Given the description of an element on the screen output the (x, y) to click on. 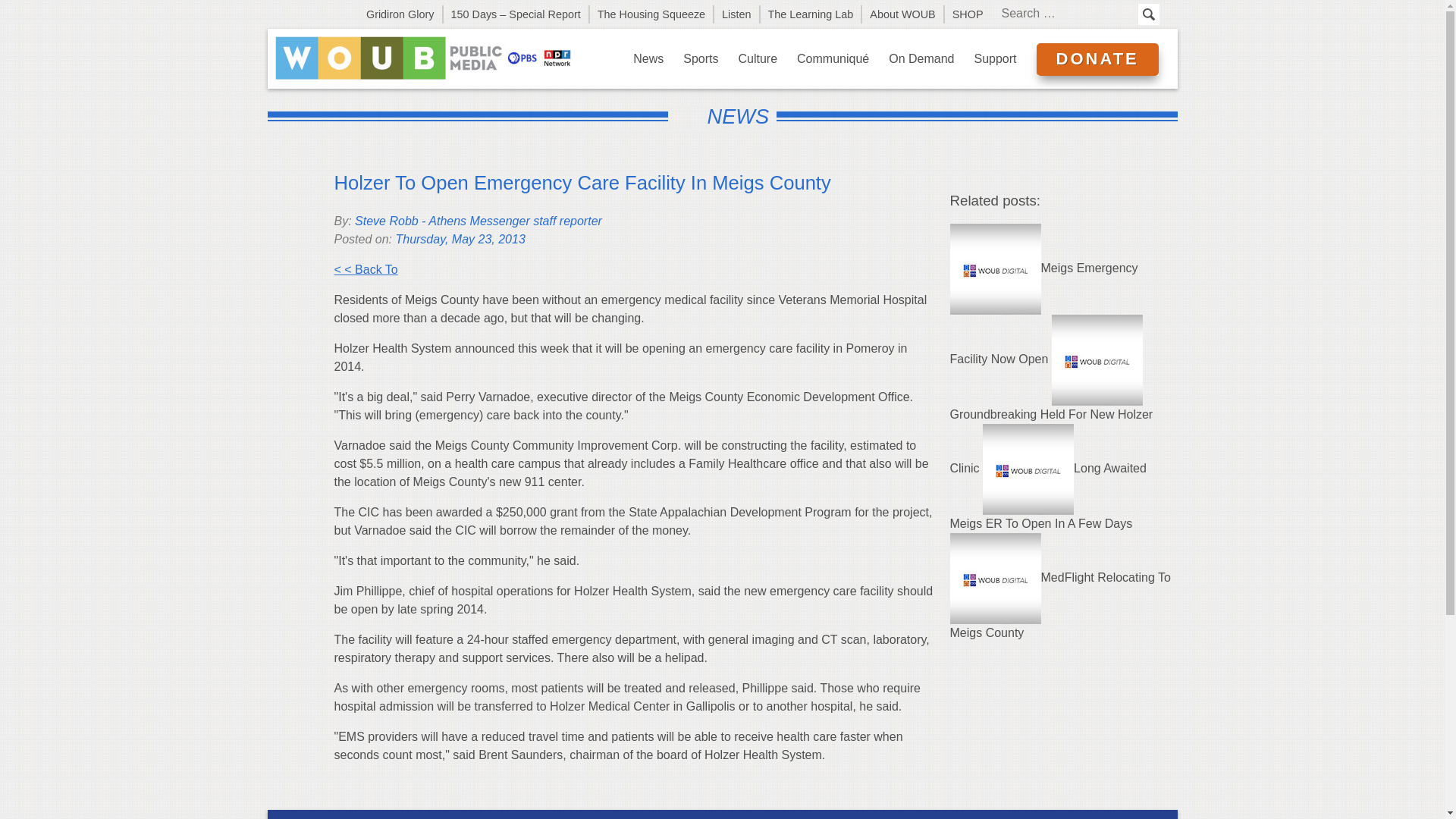
Thursday, May 23, 2013 (459, 238)
The Housing Squeeze (651, 13)
communique (833, 58)
Listen (737, 13)
Meigs Emergency Facility Now Open (1043, 314)
donate (1096, 59)
sports (700, 58)
MedFlight Relocating To Meigs County (1059, 605)
Long Awaited Meigs ER To Open In A Few Days (1047, 496)
Meigs Emergency Facility Now Open (1043, 314)
